Given the description of an element on the screen output the (x, y) to click on. 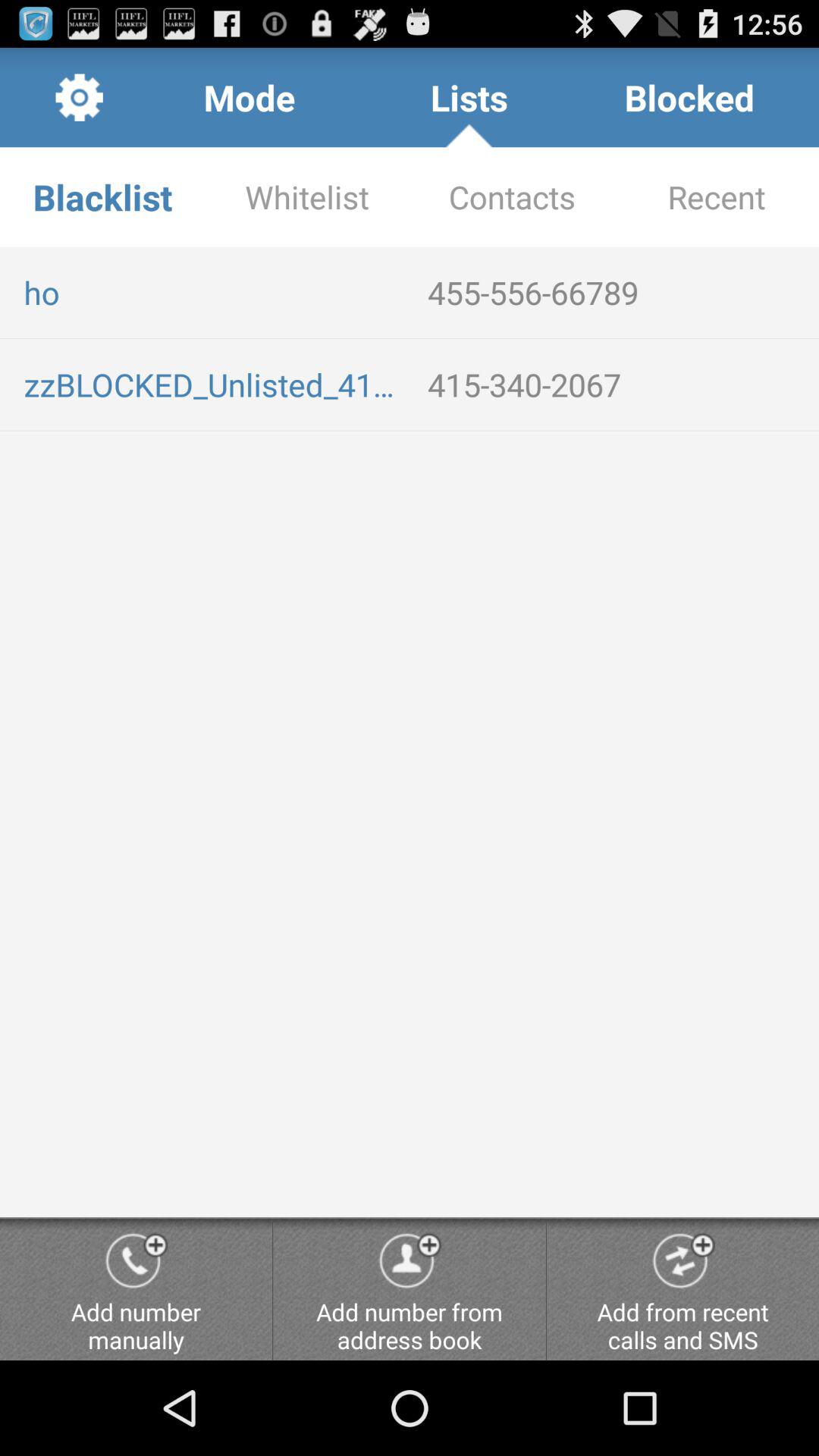
click item above ho icon (511, 196)
